Given the description of an element on the screen output the (x, y) to click on. 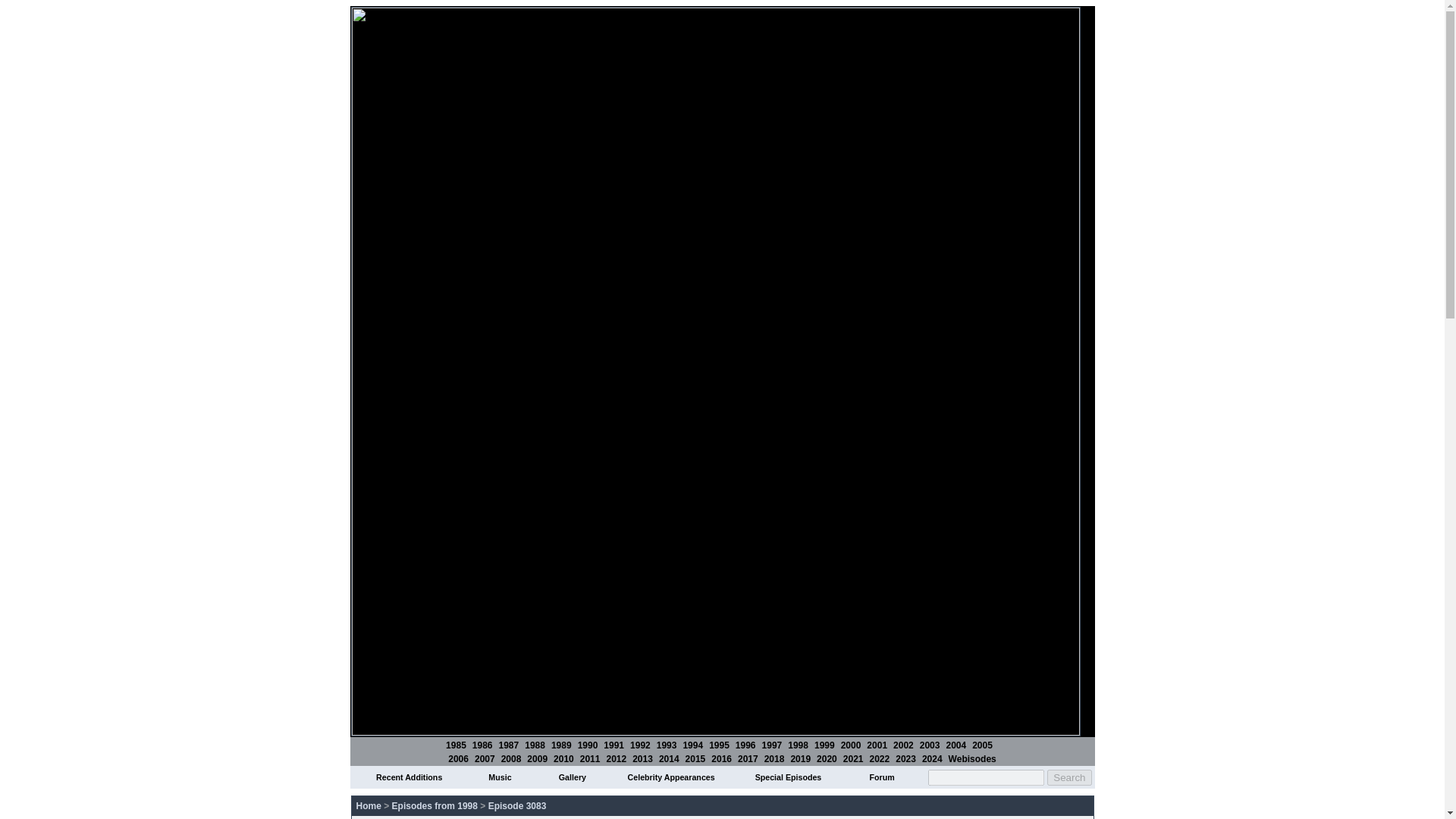
2023 (905, 758)
2012 (615, 758)
1994 (692, 745)
1990 (588, 745)
2019 (800, 758)
2004 (955, 745)
2015 (695, 758)
1996 (745, 745)
1999 (823, 745)
2010 (563, 758)
2016 (721, 758)
1993 (666, 745)
2011 (589, 758)
1985 (455, 745)
2002 (903, 745)
